Given the description of an element on the screen output the (x, y) to click on. 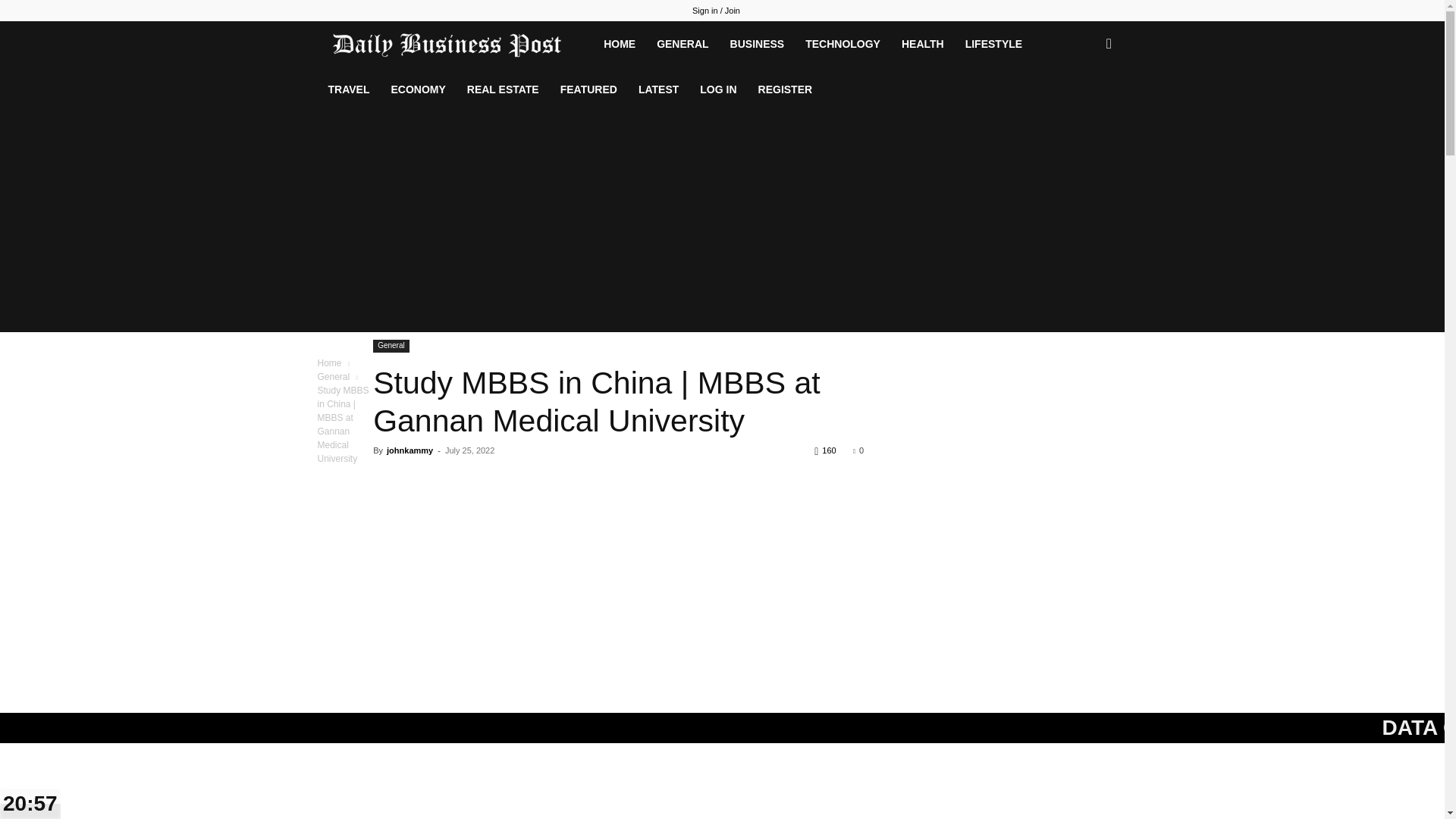
FEATURED (588, 89)
ECONOMY (417, 89)
LATEST (657, 89)
HOME (619, 43)
Daily Business Post (454, 43)
TRAVEL (348, 89)
View all posts in General (333, 376)
REAL ESTATE (503, 89)
LOG IN (717, 89)
HEALTH (923, 43)
